Given the description of an element on the screen output the (x, y) to click on. 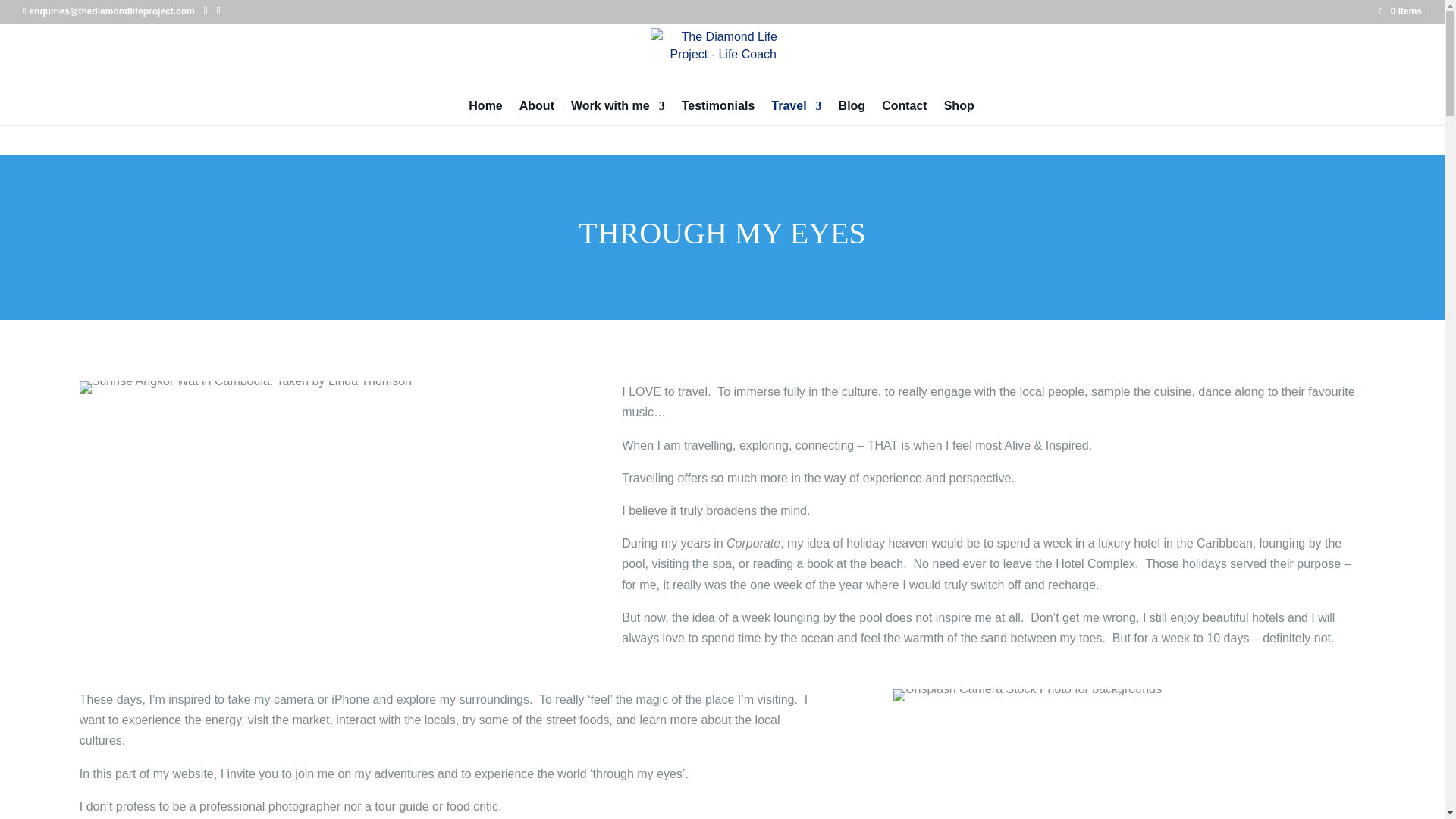
Unsplash Camera Stock Photo for backgrounds 1080x715 (1027, 695)
Home (485, 112)
Testimonials (718, 112)
Blog (852, 112)
Work with me (617, 112)
Contact (904, 112)
About (536, 112)
0 Items (1400, 10)
Shop (958, 112)
Travel (796, 112)
